Given the description of an element on the screen output the (x, y) to click on. 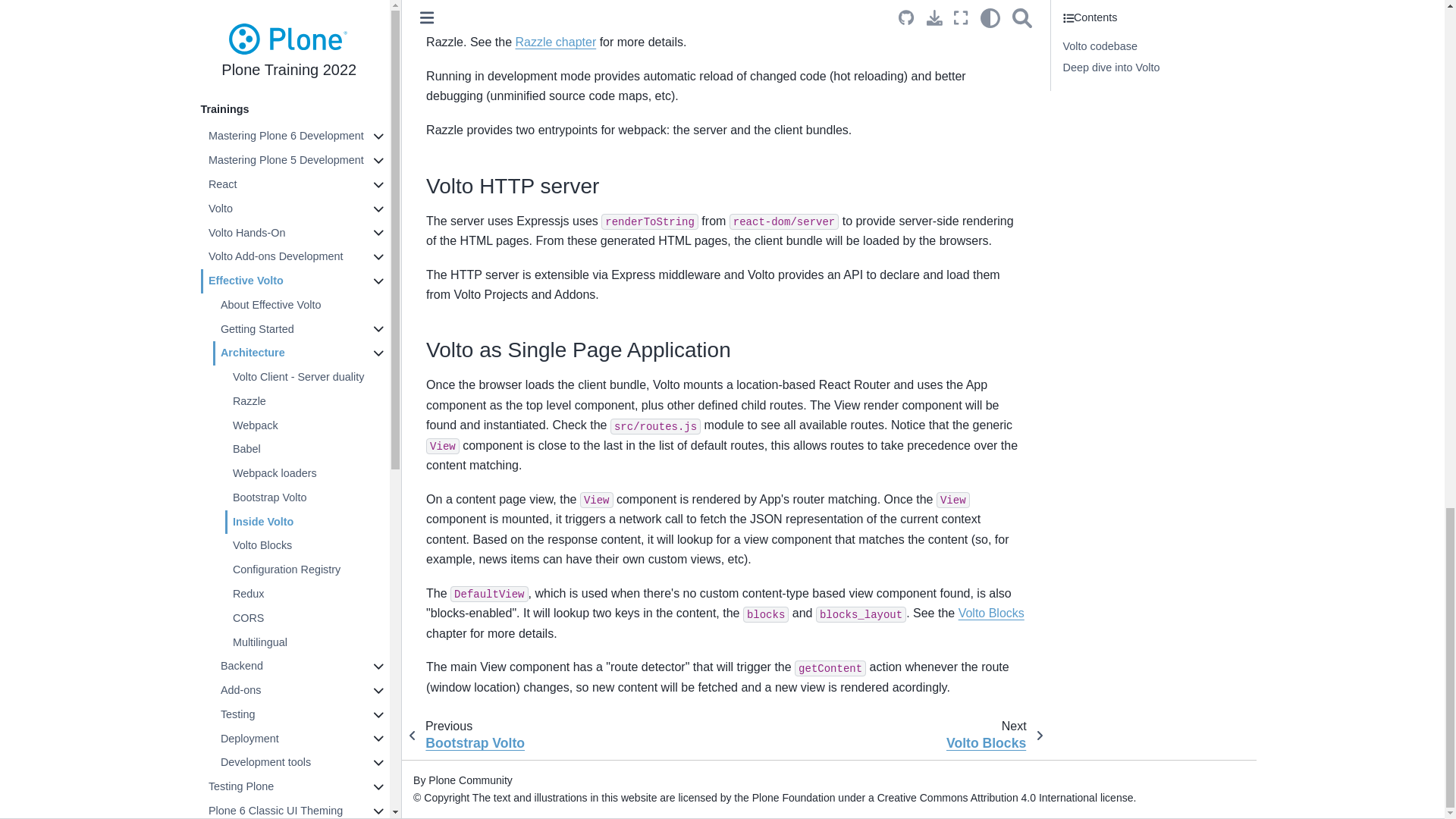
previous page (471, 735)
next page (988, 735)
